Given the description of an element on the screen output the (x, y) to click on. 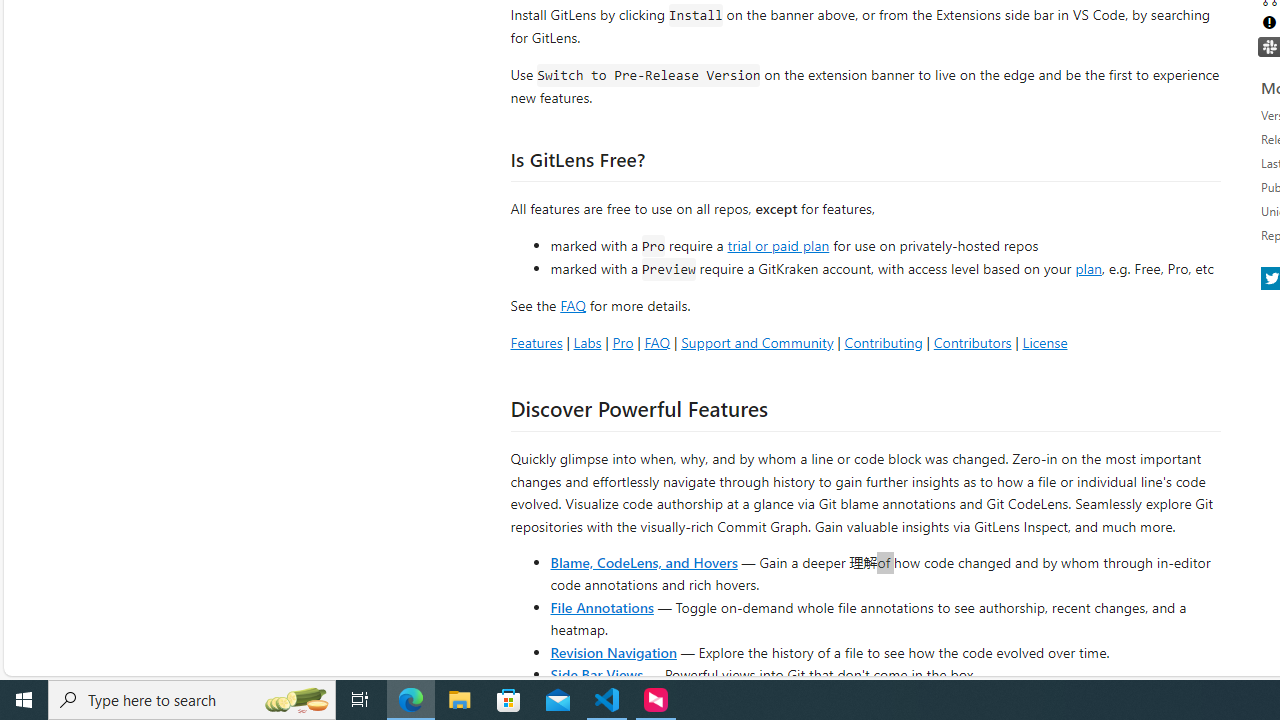
Contributors (972, 341)
Features (536, 341)
Pro (622, 341)
